Given the description of an element on the screen output the (x, y) to click on. 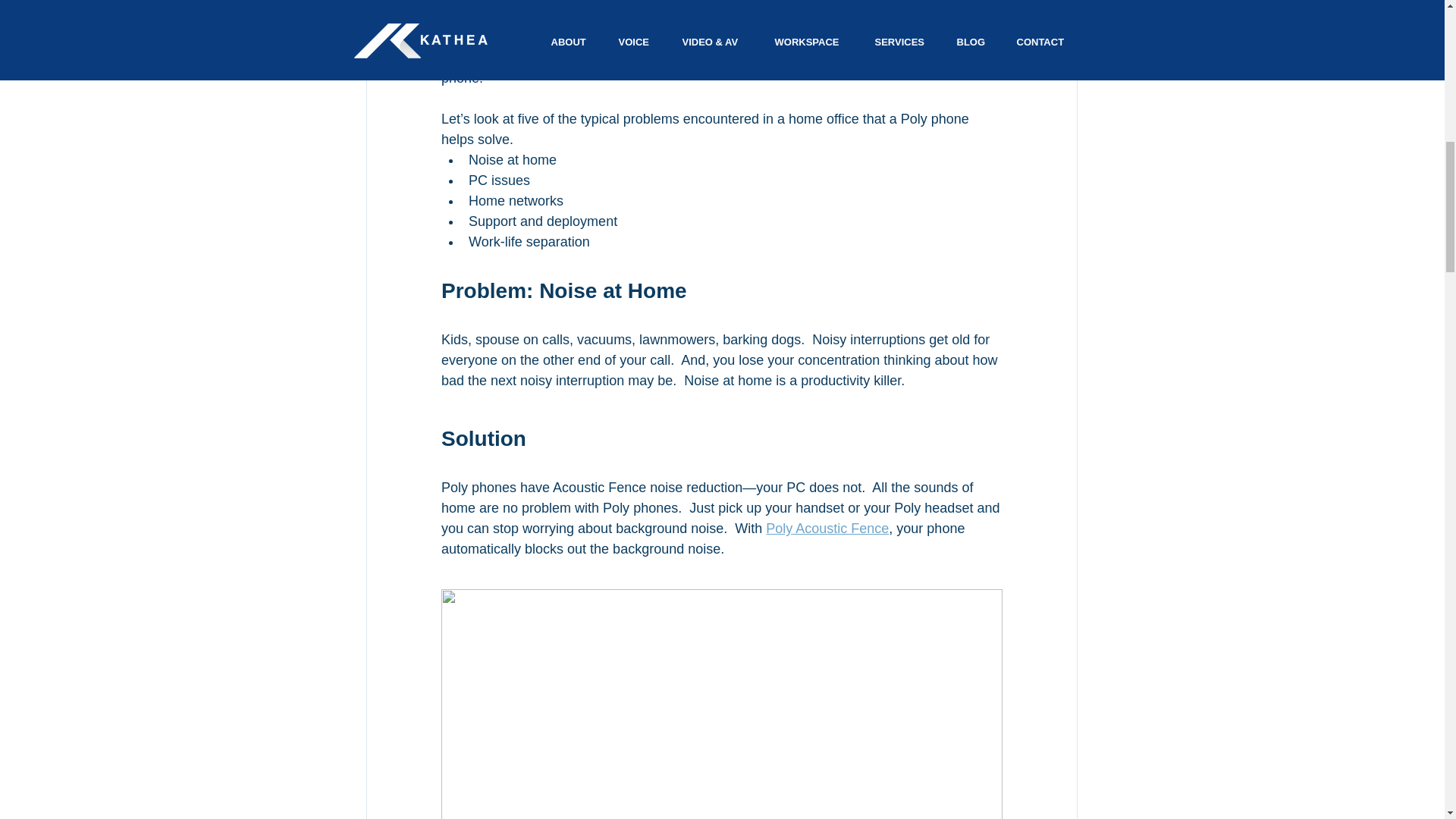
Poly Acoustic Fence (826, 528)
Gartner CFO  Survey (706, 16)
